Given the description of an element on the screen output the (x, y) to click on. 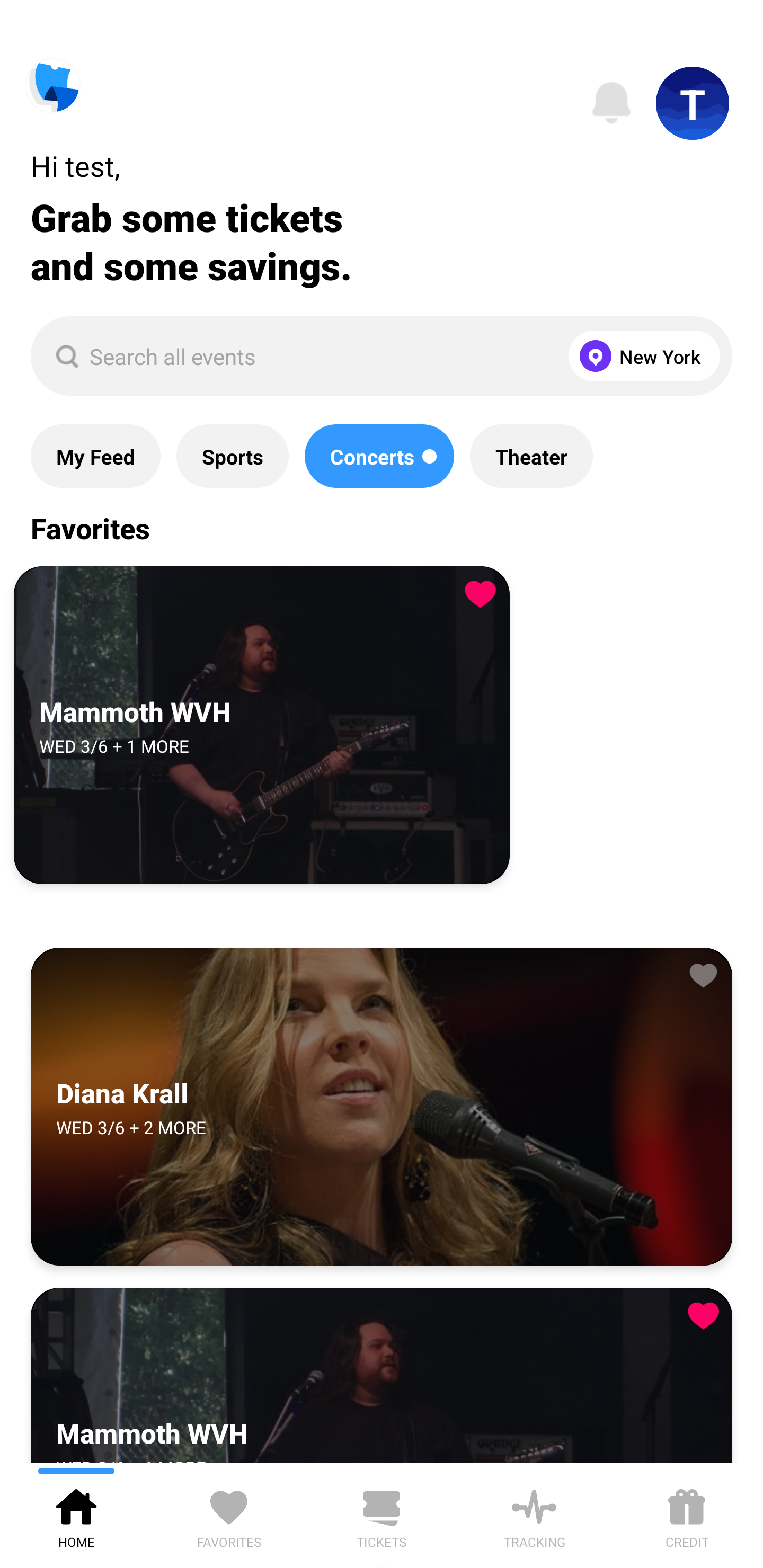
T (692, 103)
New York (640, 355)
My Feed (95, 455)
Sports (232, 455)
Concerts (378, 455)
Theater (531, 455)
HOME (76, 1515)
FAVORITES (228, 1515)
TICKETS (381, 1515)
TRACKING (533, 1515)
CREDIT (686, 1515)
